Given the description of an element on the screen output the (x, y) to click on. 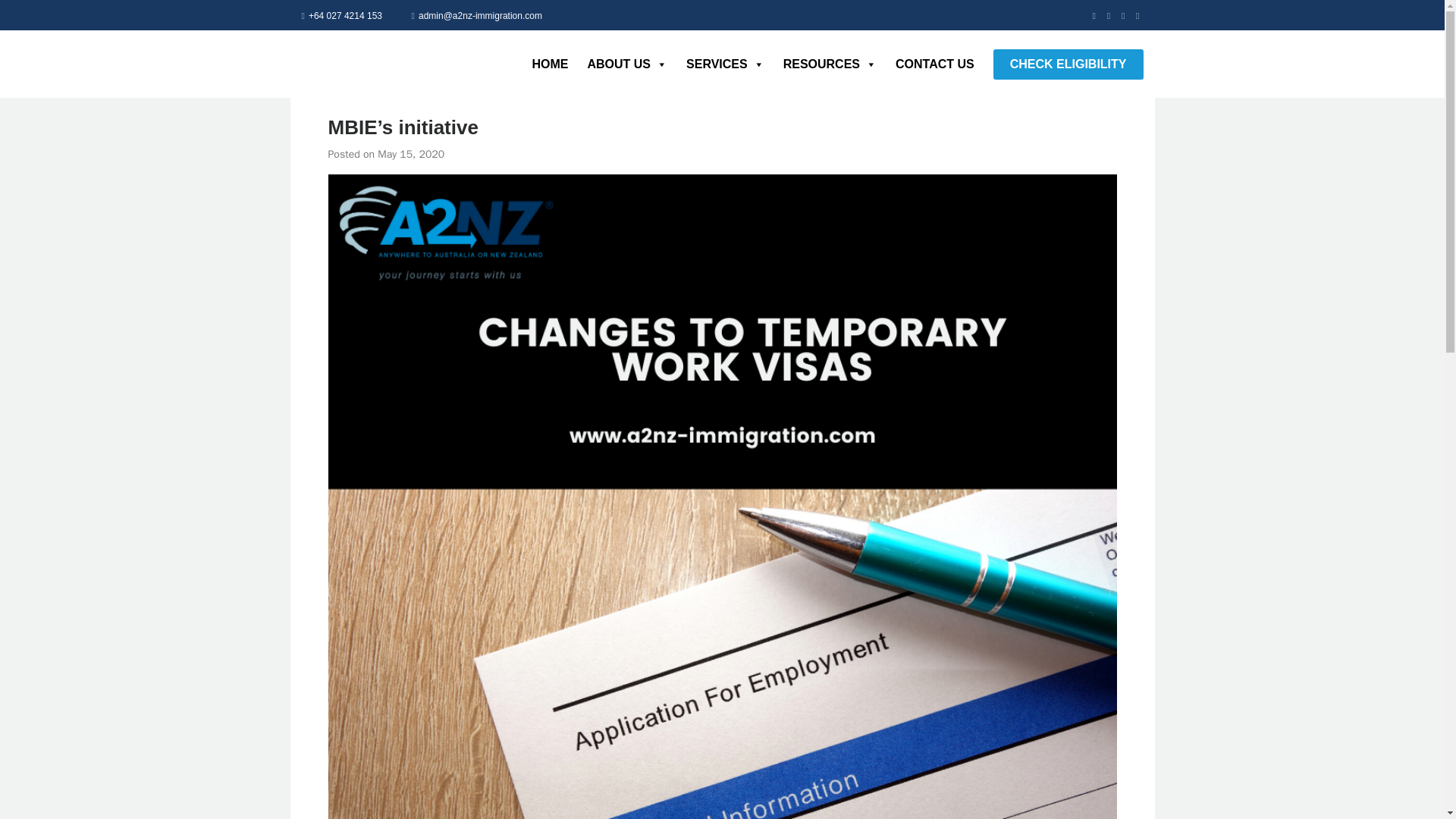
HOME (539, 63)
CHECK ELIGIBILITY (1067, 63)
ABOUT US (616, 63)
CONTACT US (925, 63)
SERVICES (715, 63)
RESOURCES (820, 63)
A2 NZ Immigration (325, 63)
